Given the description of an element on the screen output the (x, y) to click on. 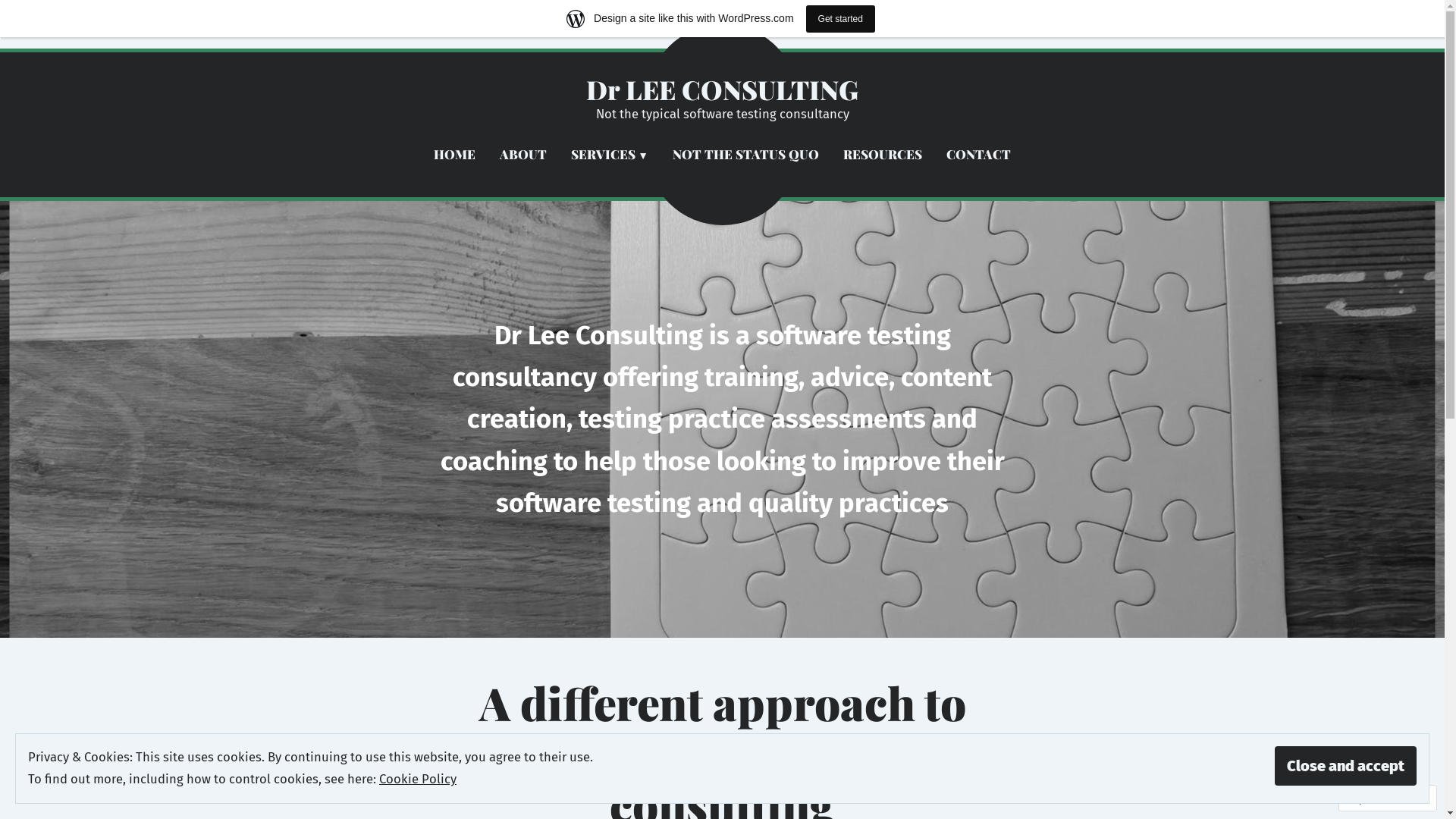
Dr LEE CONSULTING Element type: text (722, 89)
Follow Element type: text (1372, 797)
CONTACT Element type: text (978, 154)
HOME Element type: text (454, 154)
Close and accept Element type: text (1345, 765)
Cookie Policy Element type: text (417, 778)
RESOURCES Element type: text (882, 154)
ABOUT Element type: text (522, 154)
NOT THE STATUS QUO Element type: text (745, 154)
Get started Element type: text (840, 17)
SERVICES Element type: text (609, 154)
